Given the description of an element on the screen output the (x, y) to click on. 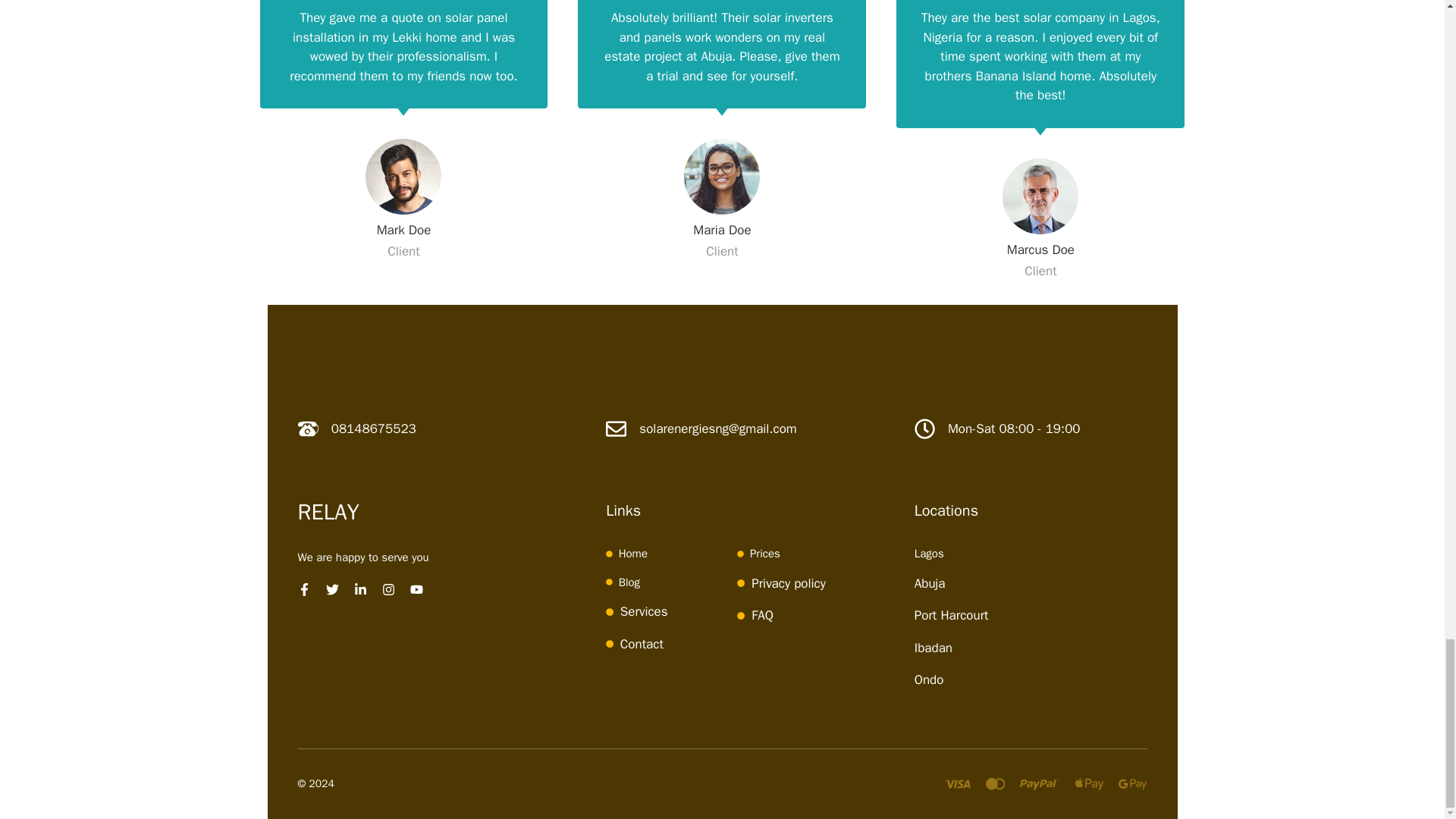
Ibadan (933, 647)
Privacy policy (788, 583)
rices (766, 553)
Blog (629, 581)
Ondo (928, 679)
Home (632, 553)
Contact (641, 643)
Services (644, 611)
